Given the description of an element on the screen output the (x, y) to click on. 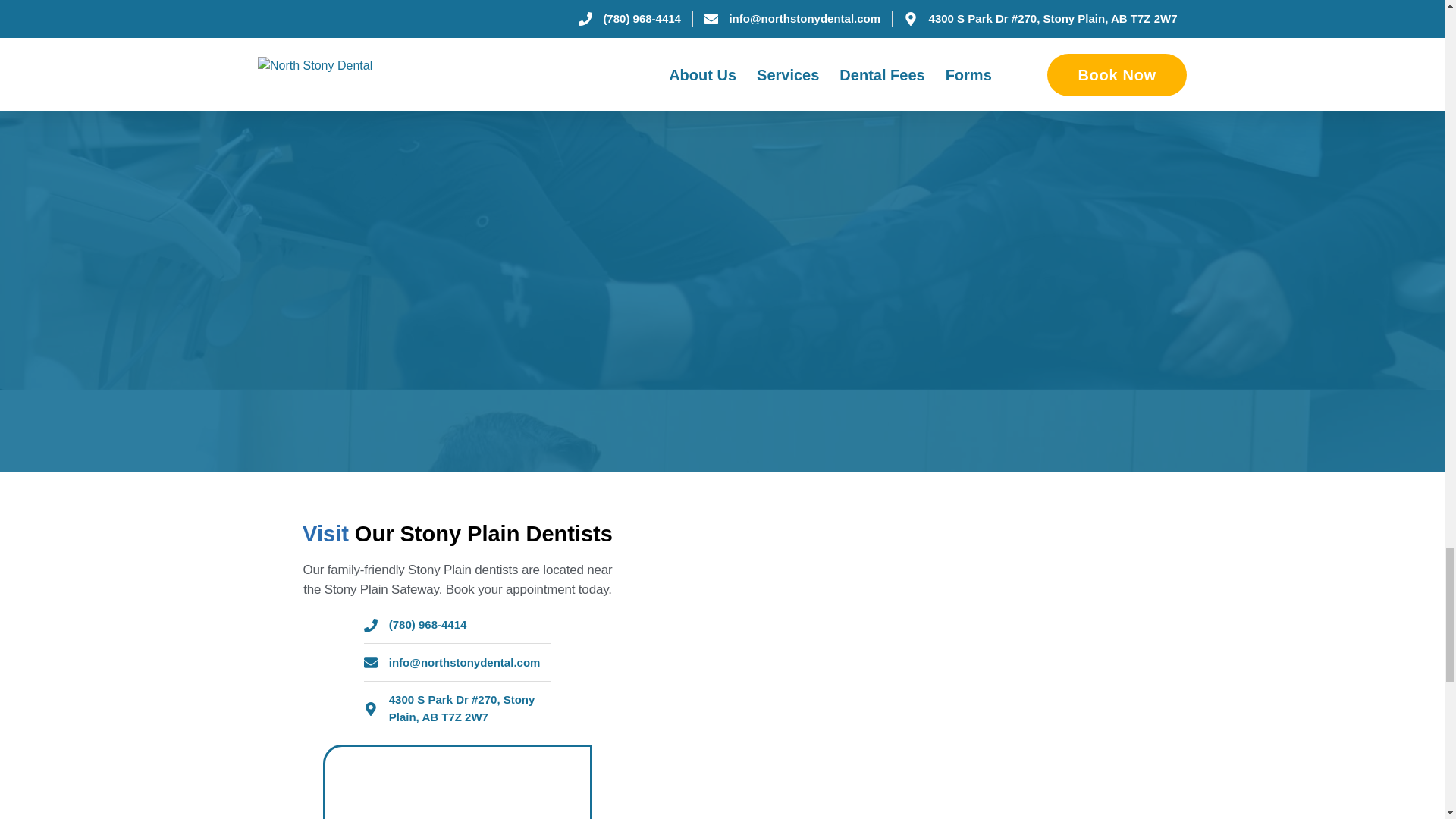
North Stony Dental (456, 782)
North Stony Dental, Dentist in Stony Plain 10 (1002, 794)
North Stony Dental, Dentist in Stony Plain 13 (745, 628)
North Stony Dental, Dentist in Stony Plain 5 (1002, 690)
